Given the description of an element on the screen output the (x, y) to click on. 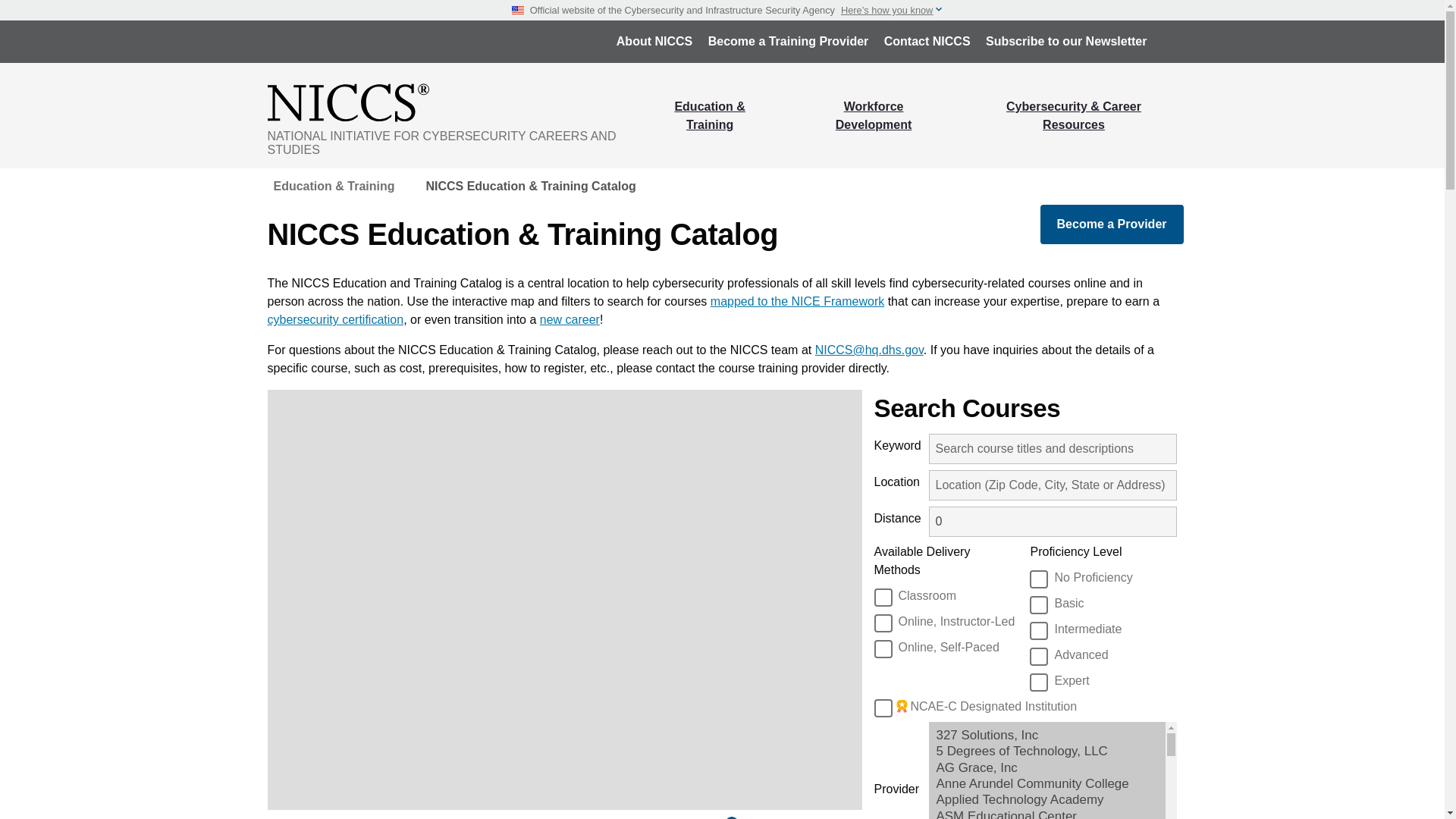
About NICCS (654, 41)
0 (1052, 521)
cybersecurity certification (334, 318)
Become a Training Provider (788, 41)
National Initiative for Cybersecurity Careers and Studies (454, 102)
About NICCS (654, 41)
Become a Provider (1112, 224)
Contact NICCS (926, 41)
new career (569, 318)
